Given the description of an element on the screen output the (x, y) to click on. 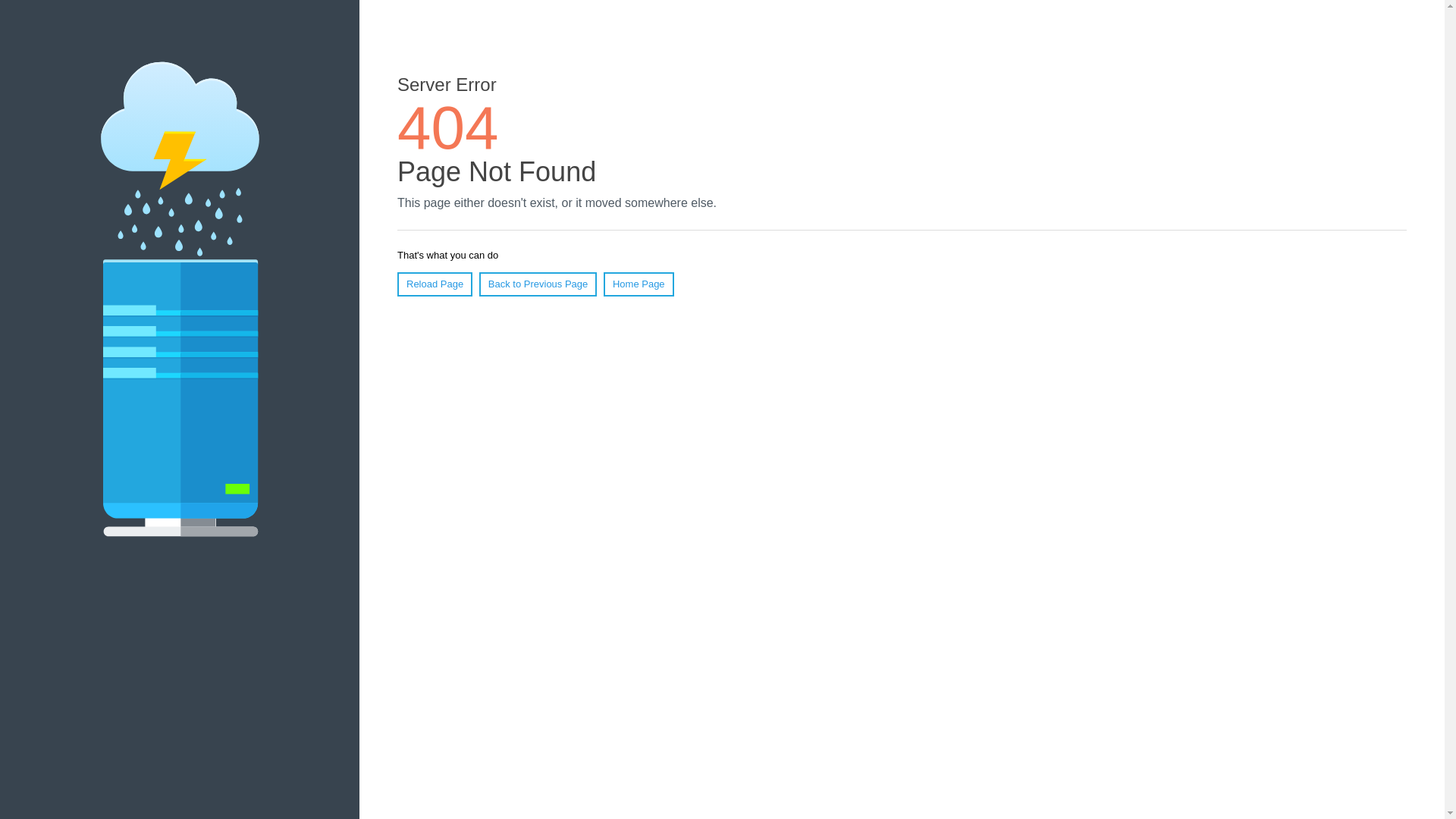
Back to Previous Page Element type: text (538, 284)
Reload Page Element type: text (434, 284)
Home Page Element type: text (638, 284)
